Given the description of an element on the screen output the (x, y) to click on. 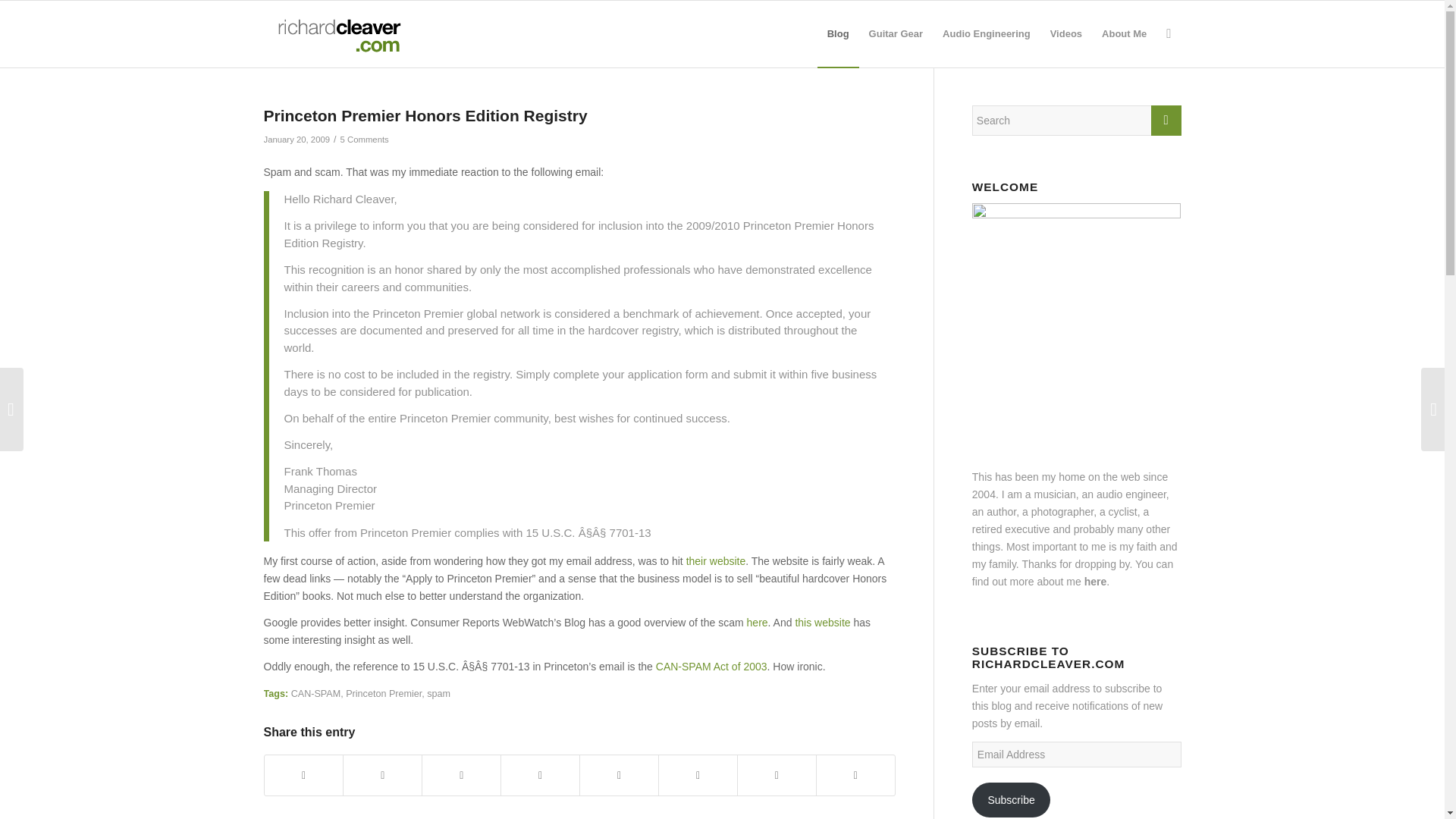
5 Comments (364, 139)
About Me (1124, 33)
CAN-SPAM Act of 2003 (711, 666)
Princeton Premier (384, 693)
Guitar Gear (896, 33)
rcdotcomlogo (336, 33)
their website (715, 561)
here (757, 622)
this website (822, 622)
Audio Engineering (987, 33)
